Given the description of an element on the screen output the (x, y) to click on. 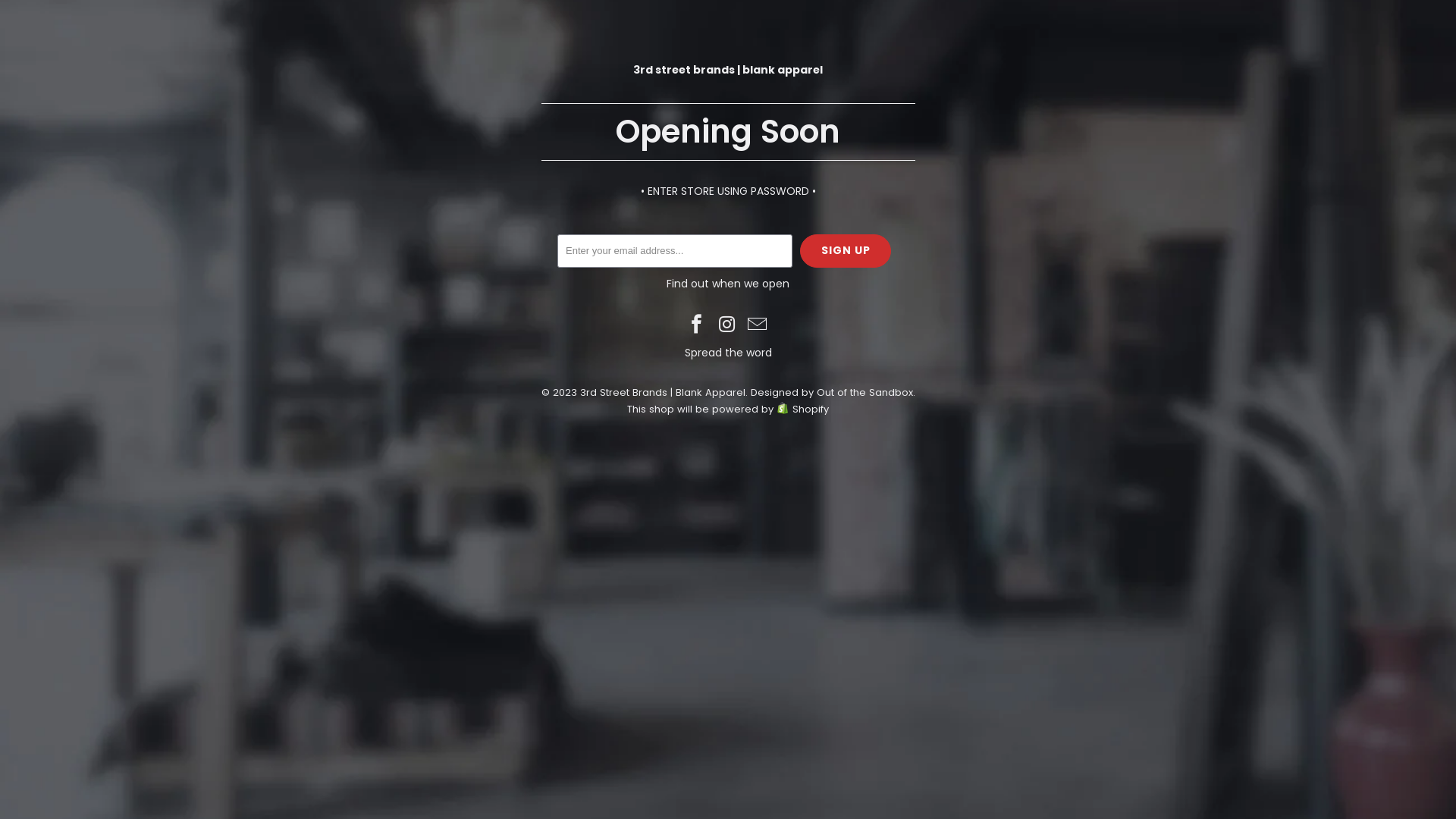
3rd Street Brands | Blank Apparel on Instagram Element type: hover (727, 325)
Designed by Out of the Sandbox Element type: text (831, 392)
Sign Up Element type: text (845, 250)
3rd Street Brands | Blank Apparel on Facebook Element type: hover (696, 325)
Email 3rd Street Brands | Blank Apparel Element type: hover (757, 325)
Enter Element type: text (820, 394)
Shopify Element type: text (802, 408)
